Given the description of an element on the screen output the (x, y) to click on. 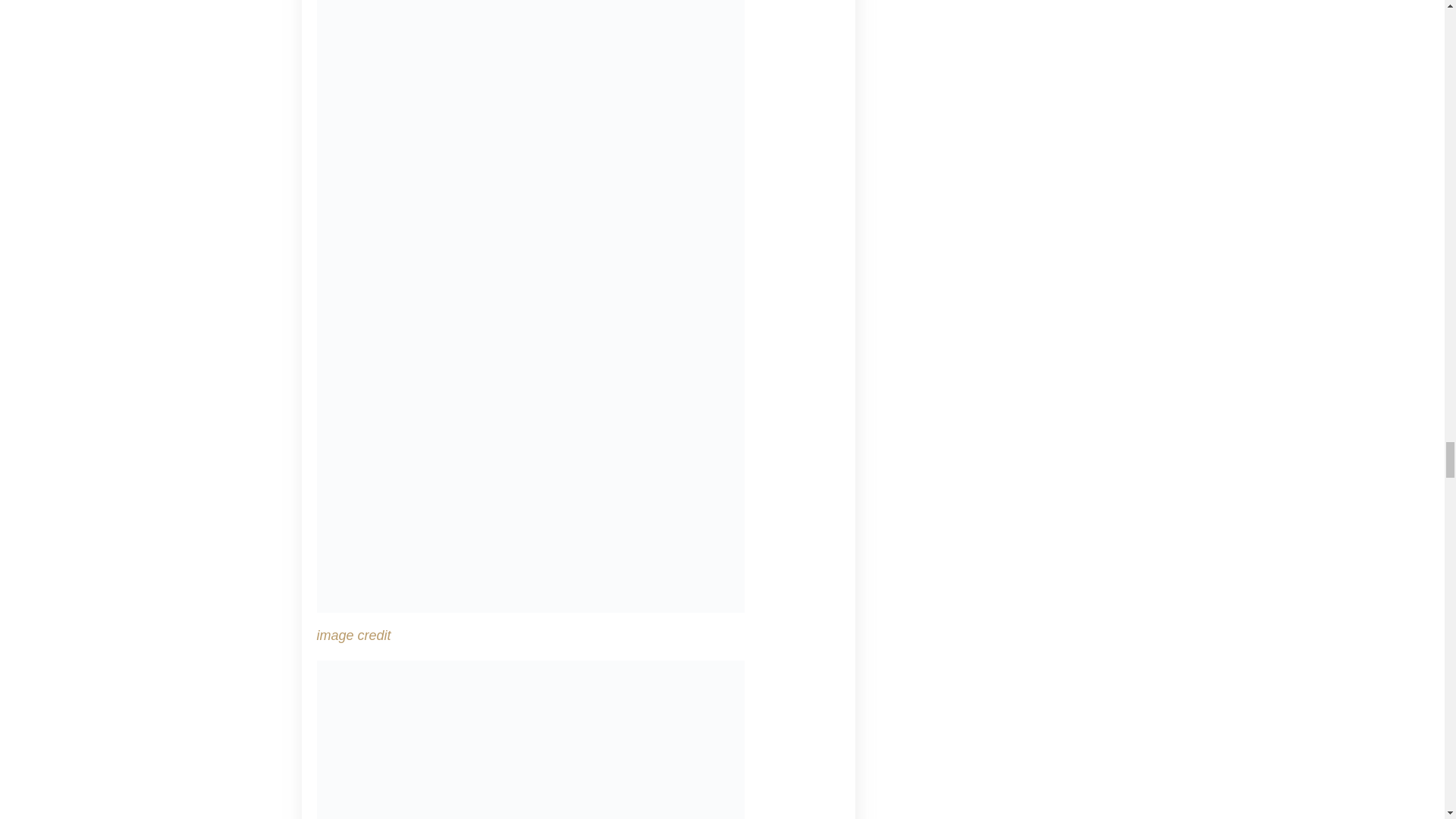
image credit (354, 635)
